Given the description of an element on the screen output the (x, y) to click on. 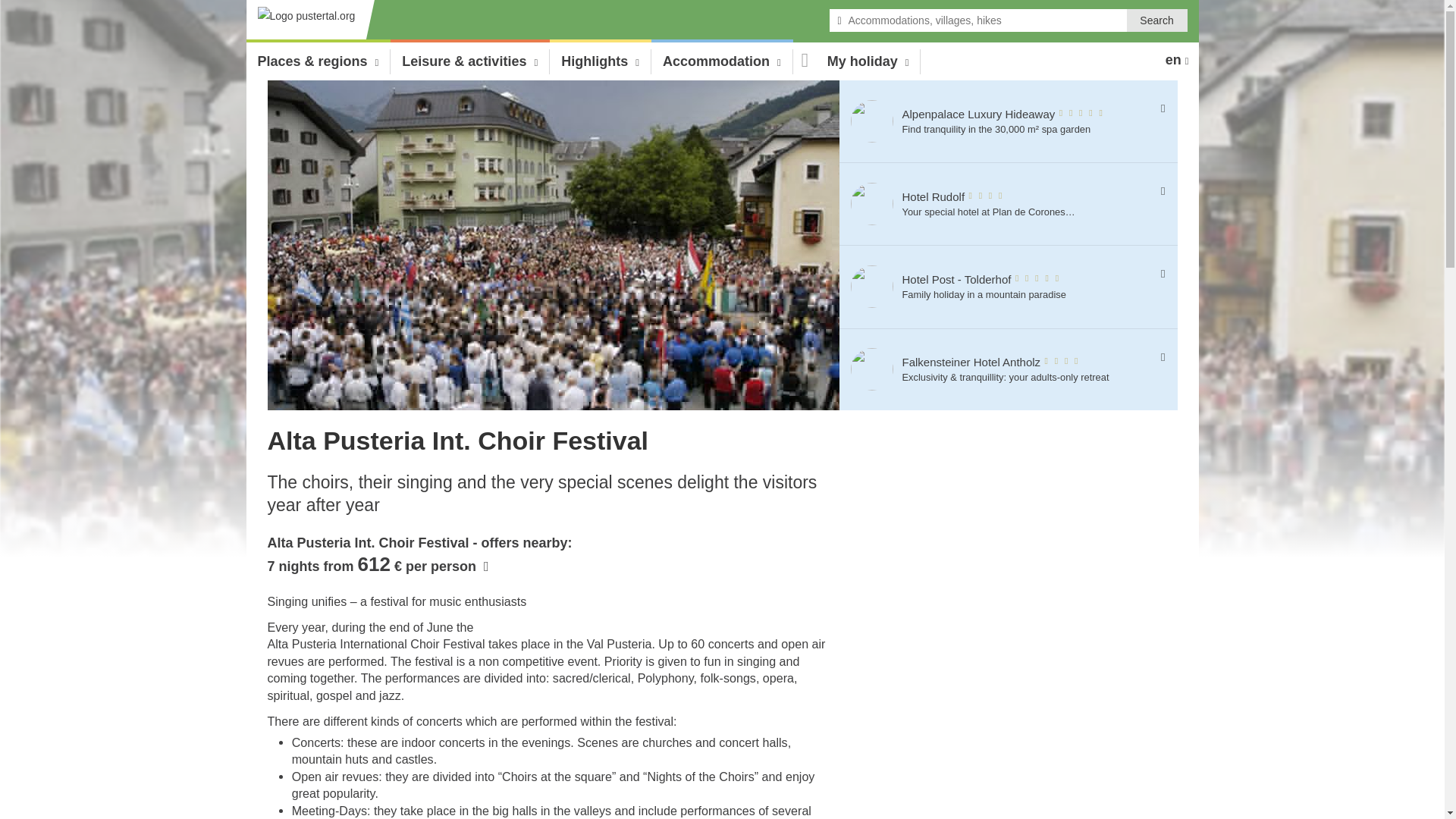
Val Pusteria (311, 21)
Family holiday in a mountain paradise (871, 287)
